Given the description of an element on the screen output the (x, y) to click on. 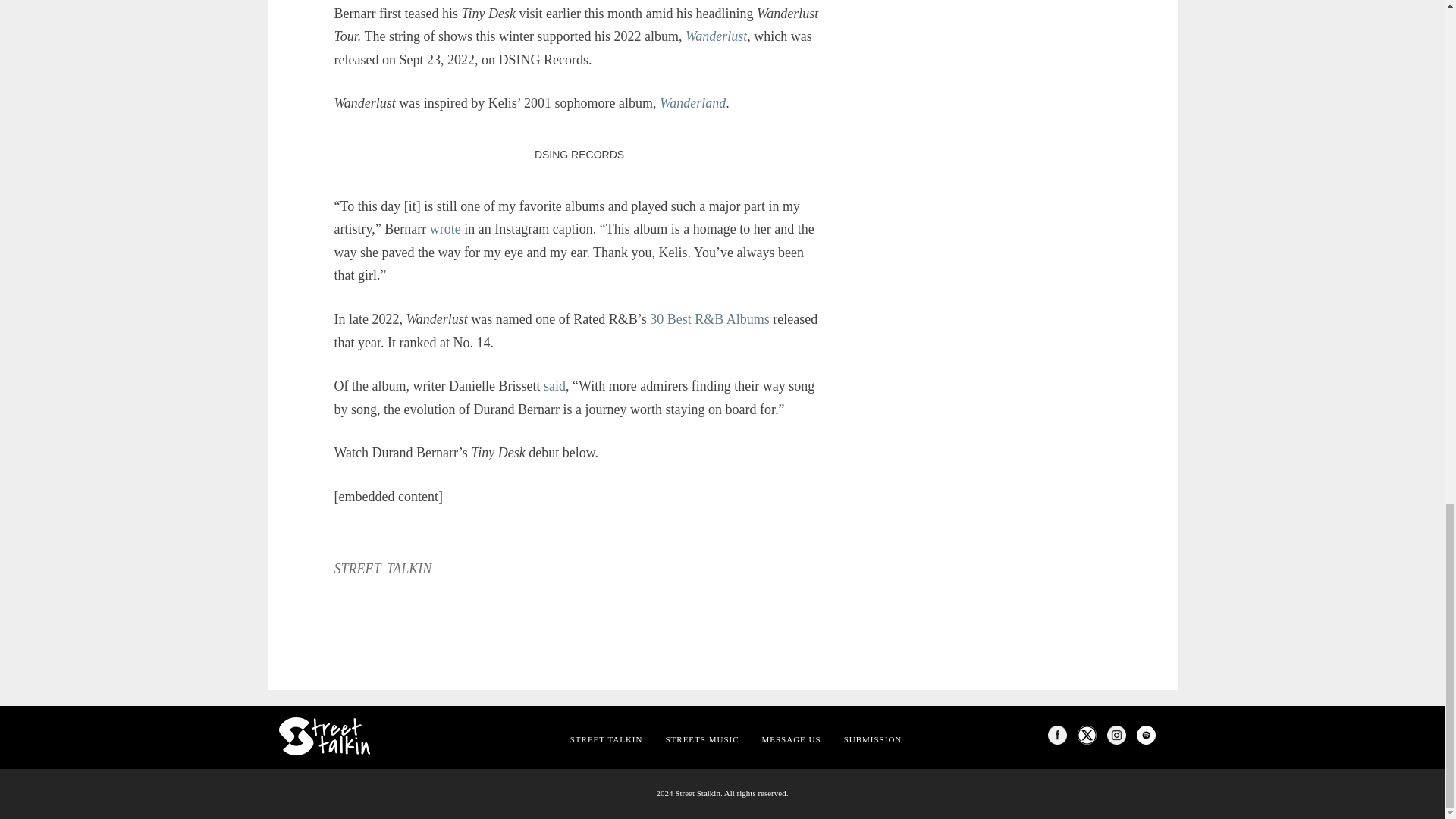
SUBMISSION (873, 738)
MESSAGE US (791, 738)
said (554, 385)
Submission (873, 738)
STREETS MUSIC (701, 738)
STREET TALKIN (381, 568)
wrote (445, 228)
STREETS MUSIC (701, 738)
Wanderland (692, 102)
Wanderlust (715, 36)
Street Talkin (606, 738)
STREET TALKIN (606, 738)
Message Us (791, 738)
